Given the description of an element on the screen output the (x, y) to click on. 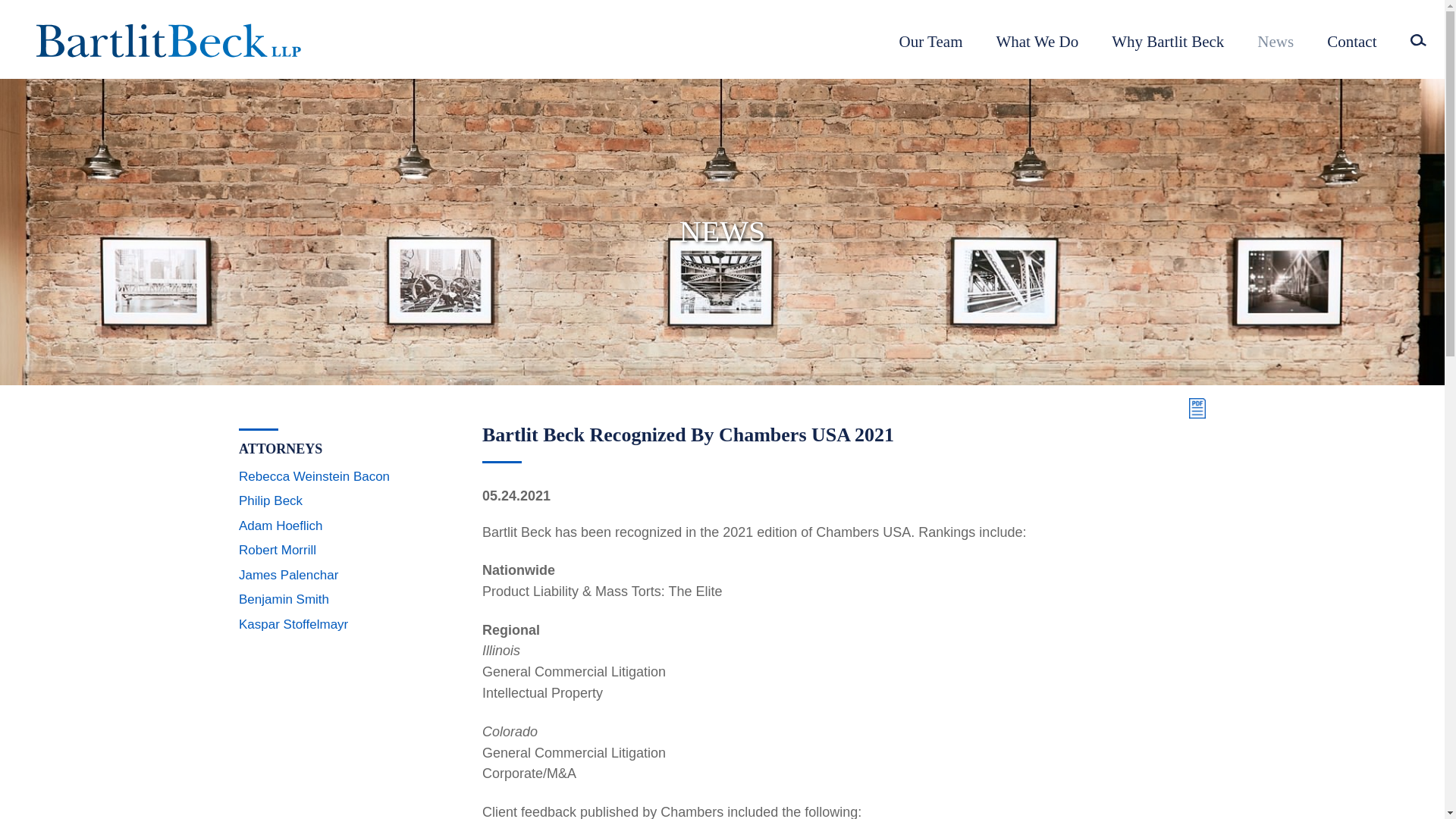
Contact (1350, 47)
Why Bartlit Beck (1168, 47)
Print PDF (1193, 408)
Our Team (930, 47)
What We Do (1036, 47)
